Given the description of an element on the screen output the (x, y) to click on. 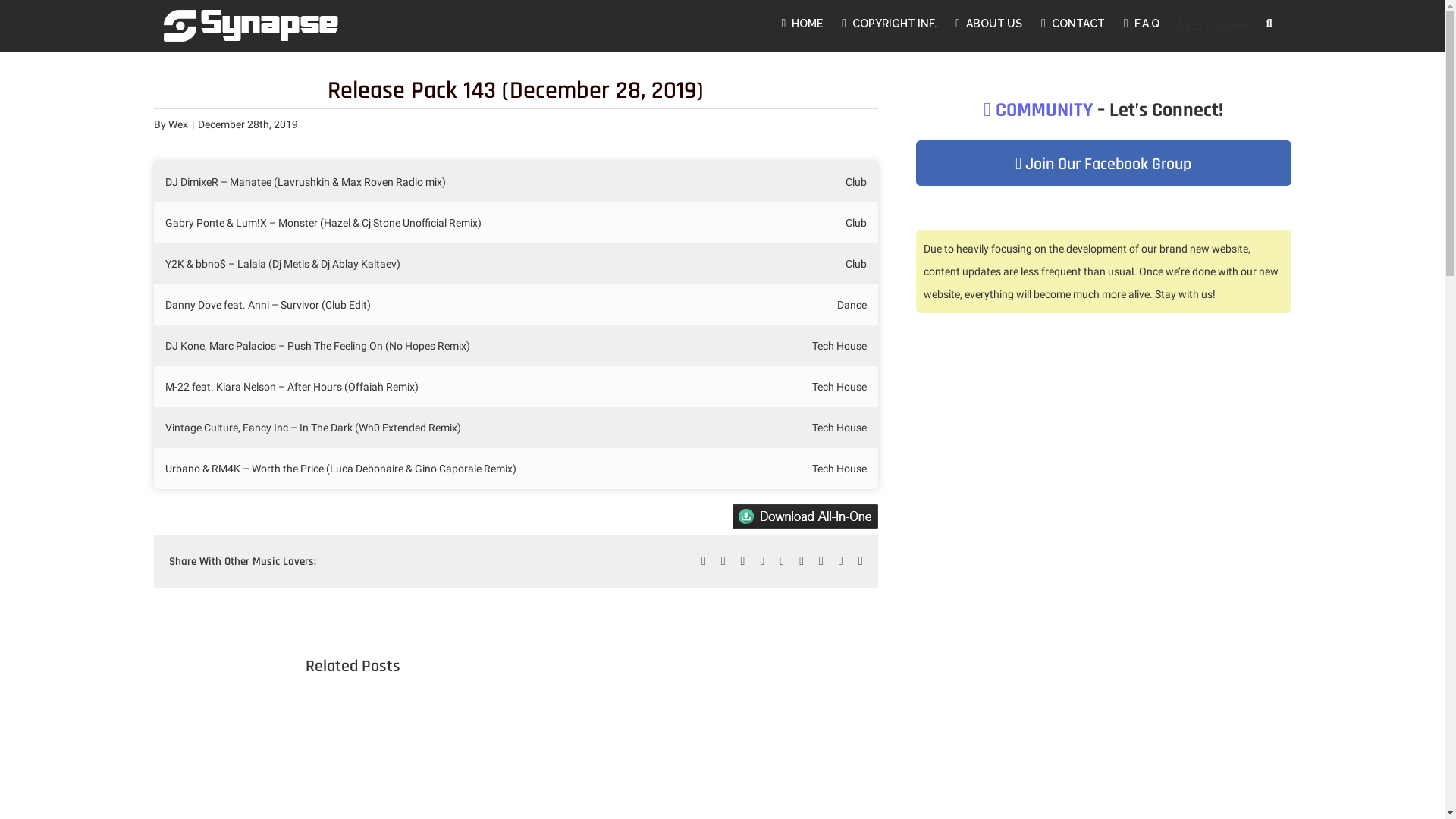
Join Our Facebook Group Element type: text (1103, 164)
CONTACT Element type: text (1072, 23)
Tumblr Element type: text (801, 561)
LinkedIn Element type: text (742, 561)
Wex Element type: text (178, 124)
WhatsApp Element type: text (781, 561)
Search Element type: hover (1269, 23)
ABOUT US Element type: text (988, 23)
HOME Element type: text (801, 23)
COPYRIGHT INF. Element type: text (888, 23)
Facebook Element type: text (703, 561)
Email Element type: text (860, 561)
Vk Element type: text (840, 561)
Pinterest Element type: text (821, 561)
Reddit Element type: text (761, 561)
F.A.Q Element type: text (1141, 23)
Twitter Element type: text (723, 561)
